Given the description of an element on the screen output the (x, y) to click on. 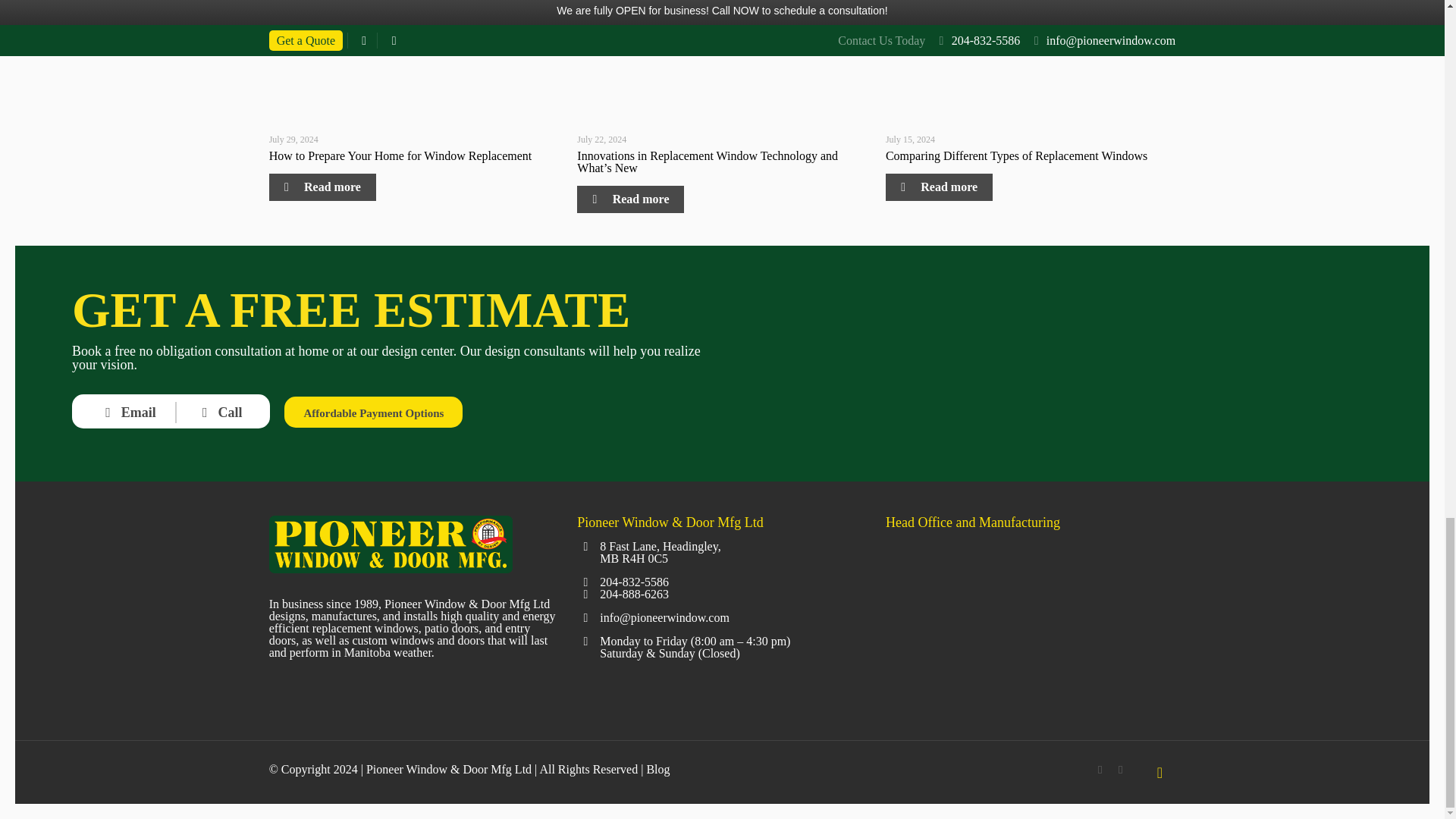
Instagram (1120, 769)
How to Prepare Your Home for Window Replacement (400, 155)
Facebook (1100, 769)
